Given the description of an element on the screen output the (x, y) to click on. 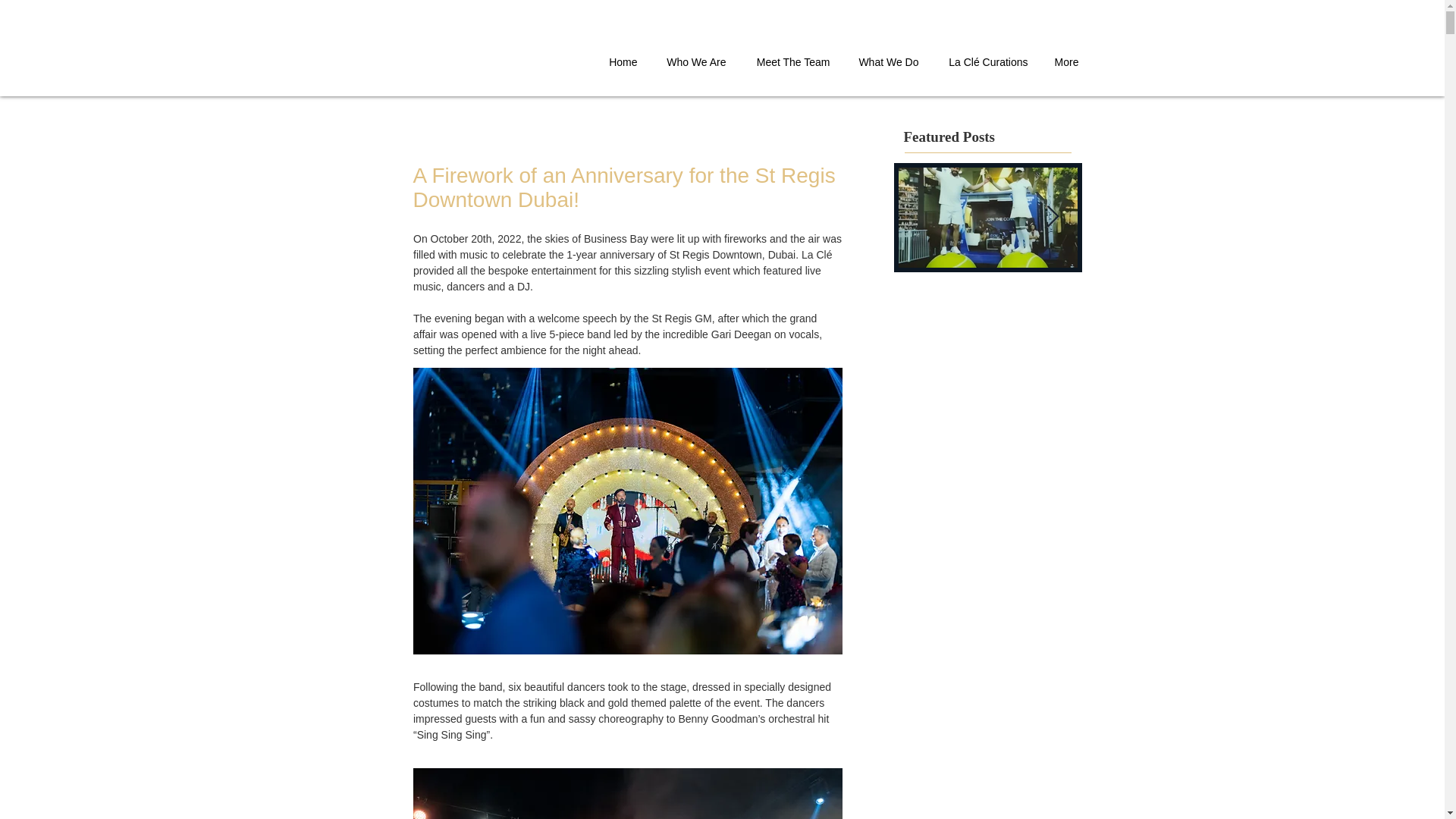
What We Do (885, 62)
Who We Are (693, 62)
Home (621, 62)
Meet The Team (788, 62)
